Given the description of an element on the screen output the (x, y) to click on. 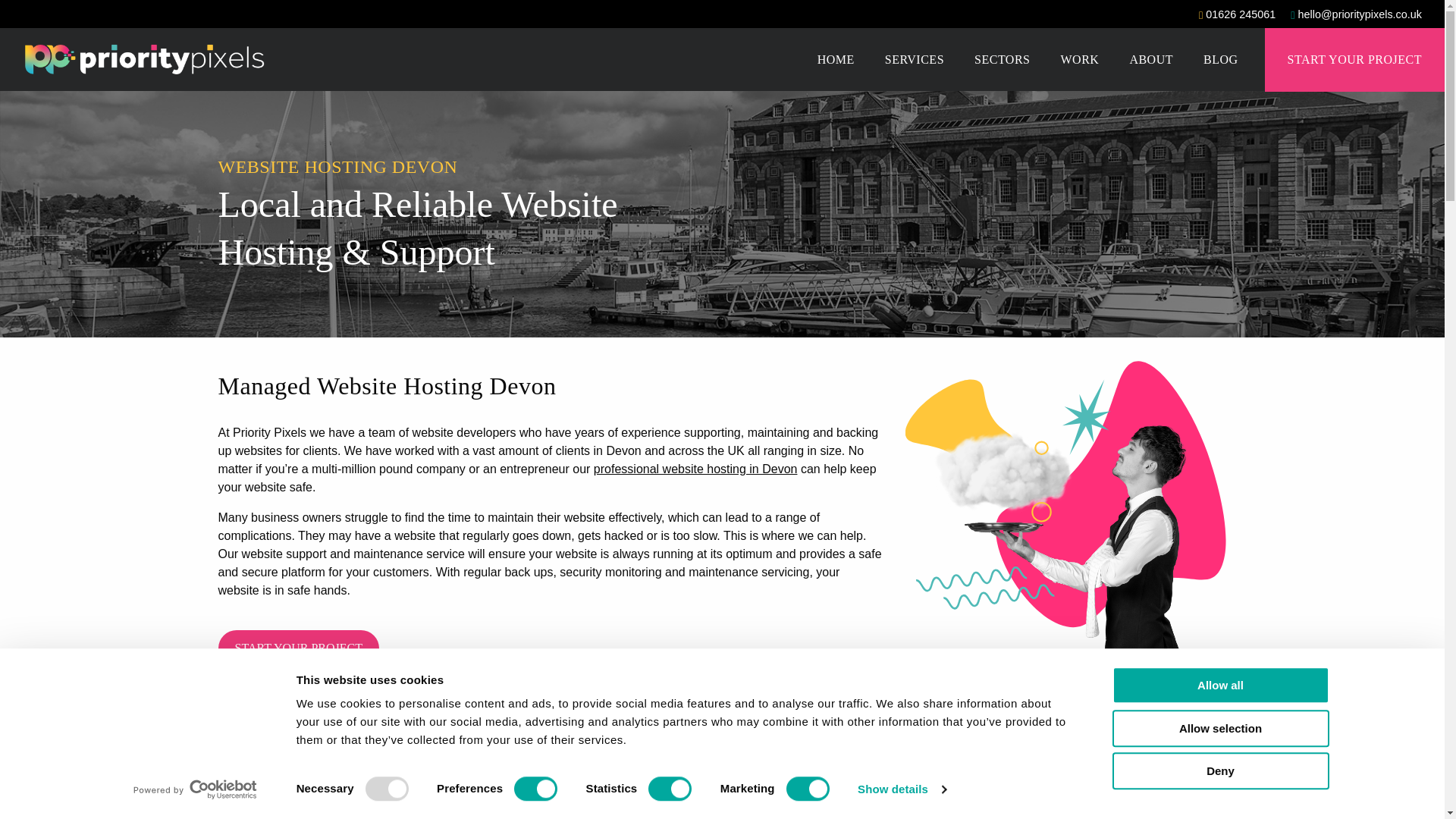
Show details (900, 789)
